Given the description of an element on the screen output the (x, y) to click on. 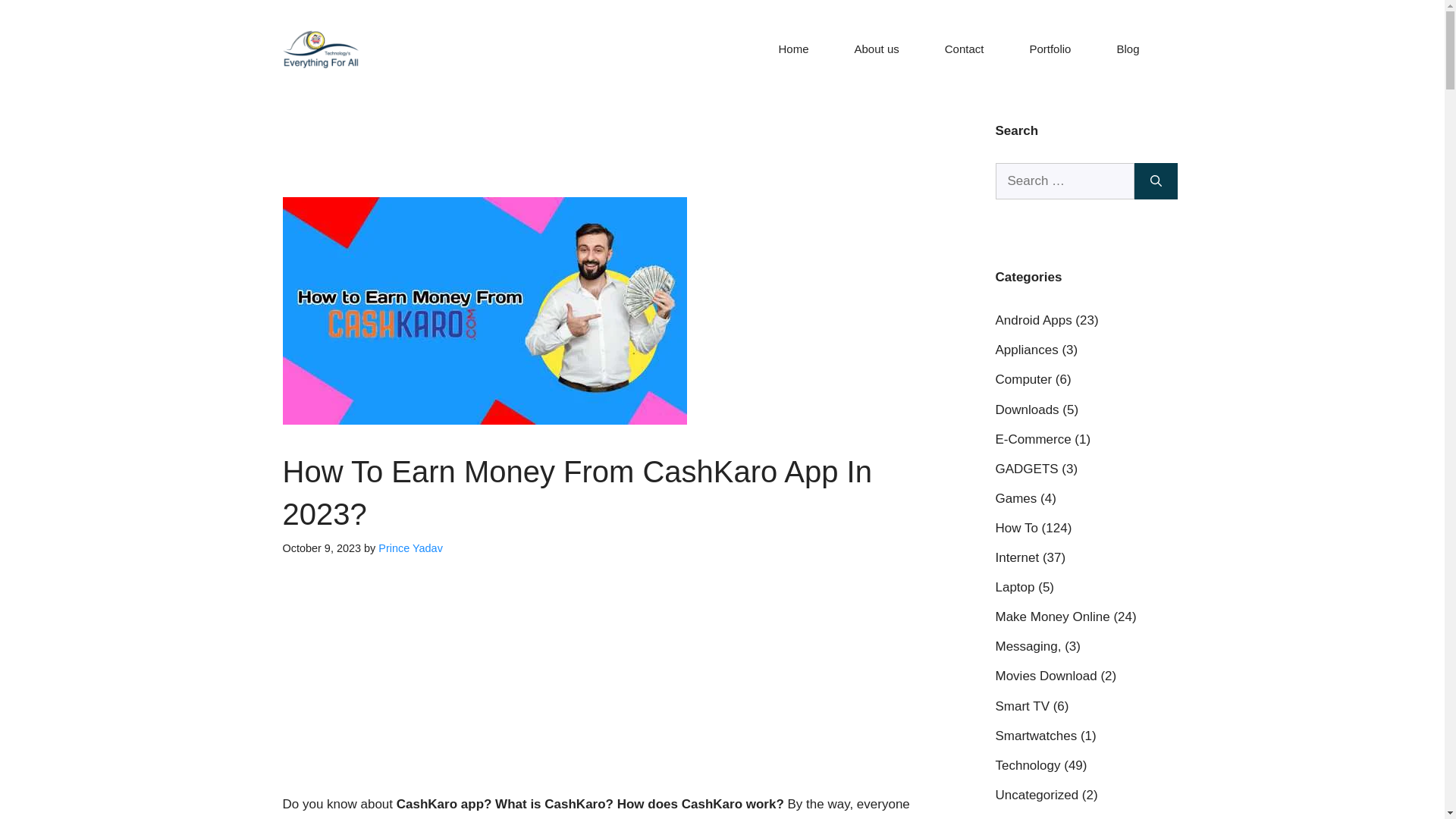
Home (793, 49)
Advertisement (596, 680)
How To Earn Money From CashKaro App In 2023? 1 (483, 311)
Prince Yadav (410, 548)
Portfolio (1049, 49)
About us (876, 49)
Blog (1127, 49)
Home (793, 49)
Contact (964, 49)
View all posts by Prince Yadav (410, 548)
